Given the description of an element on the screen output the (x, y) to click on. 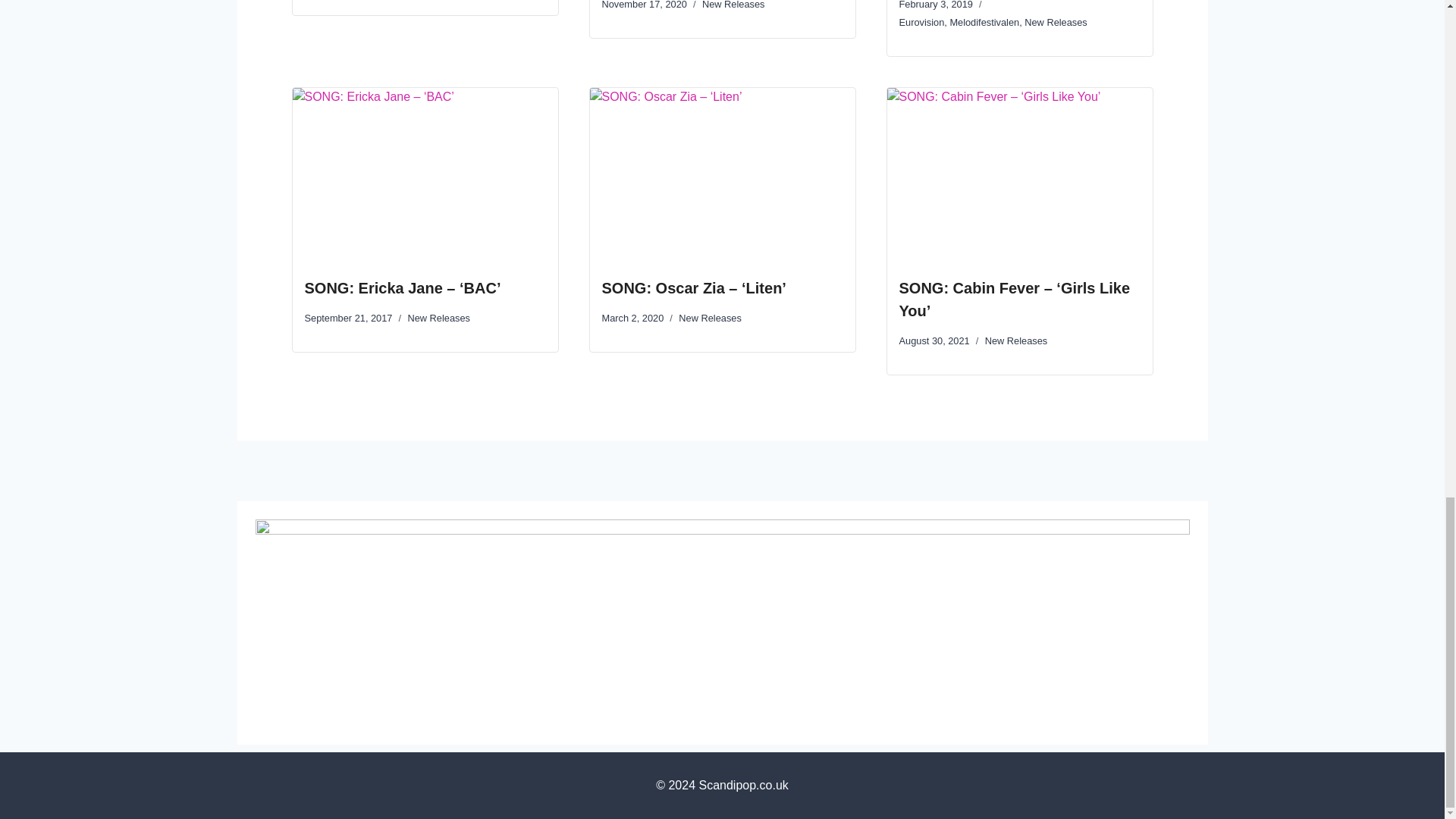
New Releases (709, 317)
New Releases (733, 4)
New Releases (438, 317)
New Releases (1016, 340)
Melodifestivalen (984, 21)
New Releases (1056, 21)
Eurovision (921, 21)
